Given the description of an element on the screen output the (x, y) to click on. 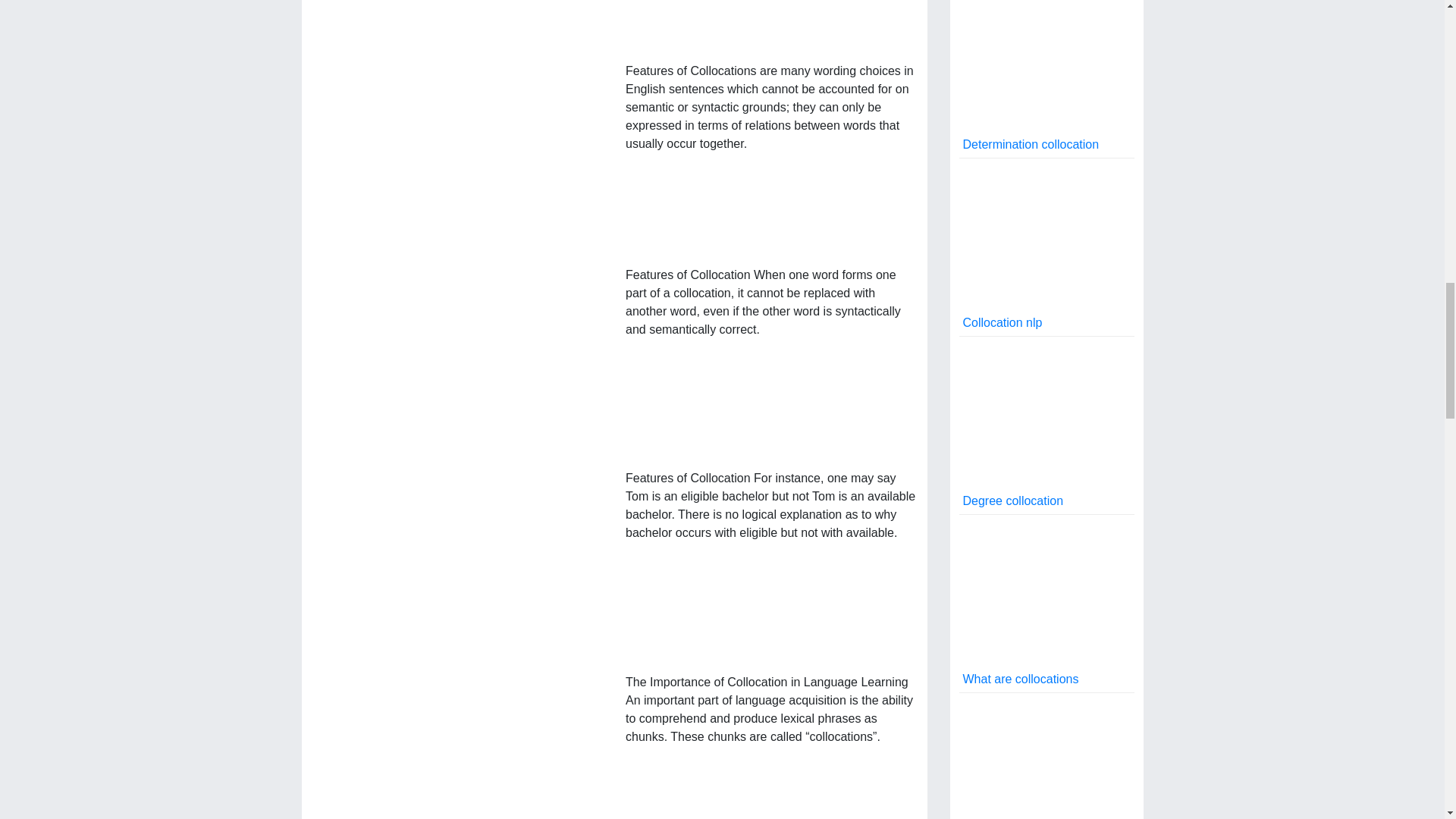
Determination collocation (1046, 79)
Acquire collocation (1046, 755)
Degree collocation (1046, 425)
Collocation nlp (1046, 247)
What are collocations (1046, 603)
